Given the description of an element on the screen output the (x, y) to click on. 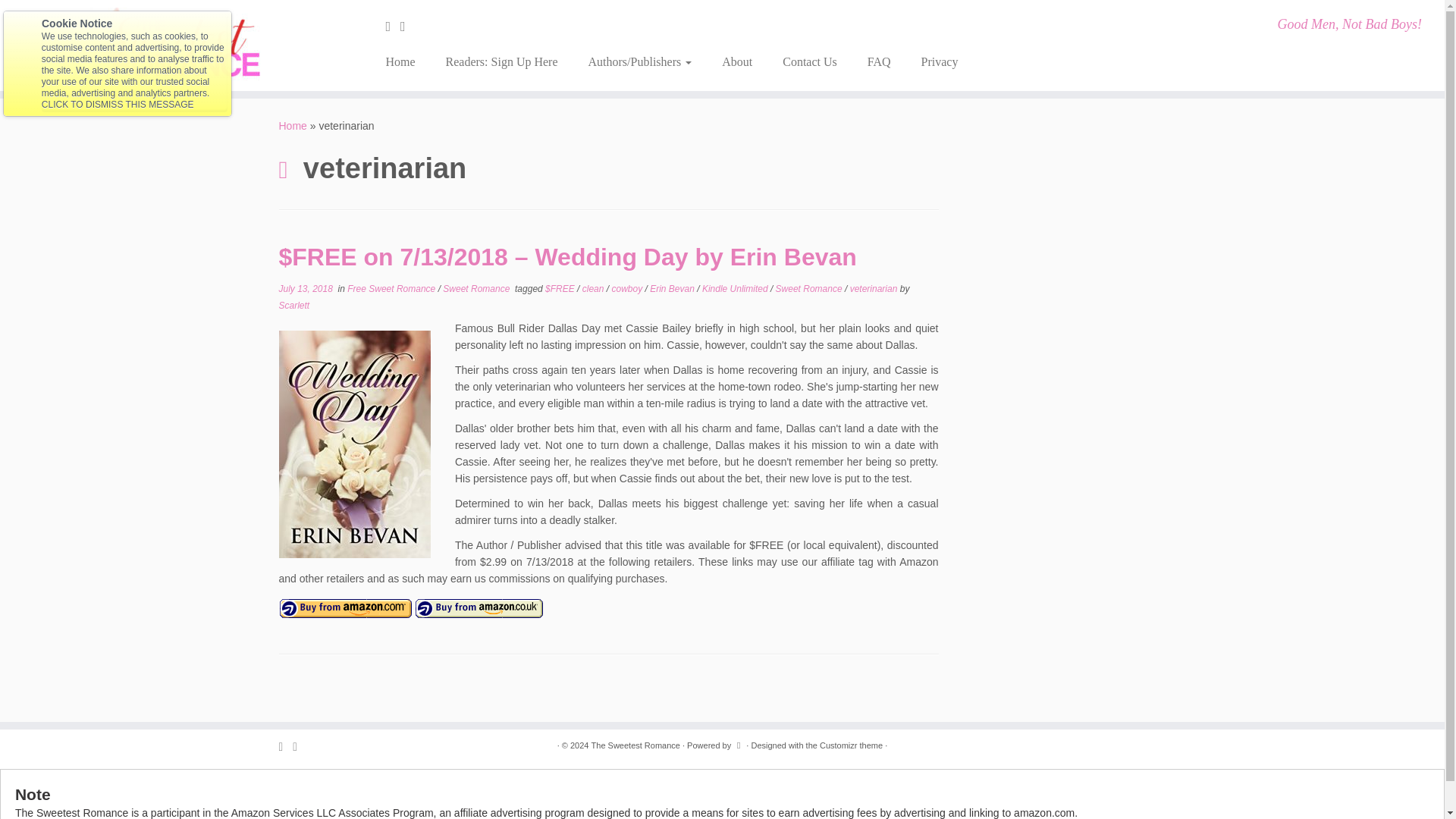
FAQ (878, 61)
View all posts in Erin Bevan (673, 288)
View all posts in cowboy (628, 288)
3:00 am (306, 288)
Follow me on Facebook (407, 26)
Home (405, 61)
Contact Us (809, 61)
View all posts in Kindle Unlimited (735, 288)
July 13, 2018 (306, 288)
veterinarian (874, 288)
View all posts in Free Sweet Romance (392, 288)
Privacy (931, 61)
Subscribe to my rss feed (392, 26)
Free Sweet Romance (392, 288)
Scarlett (294, 305)
